Given the description of an element on the screen output the (x, y) to click on. 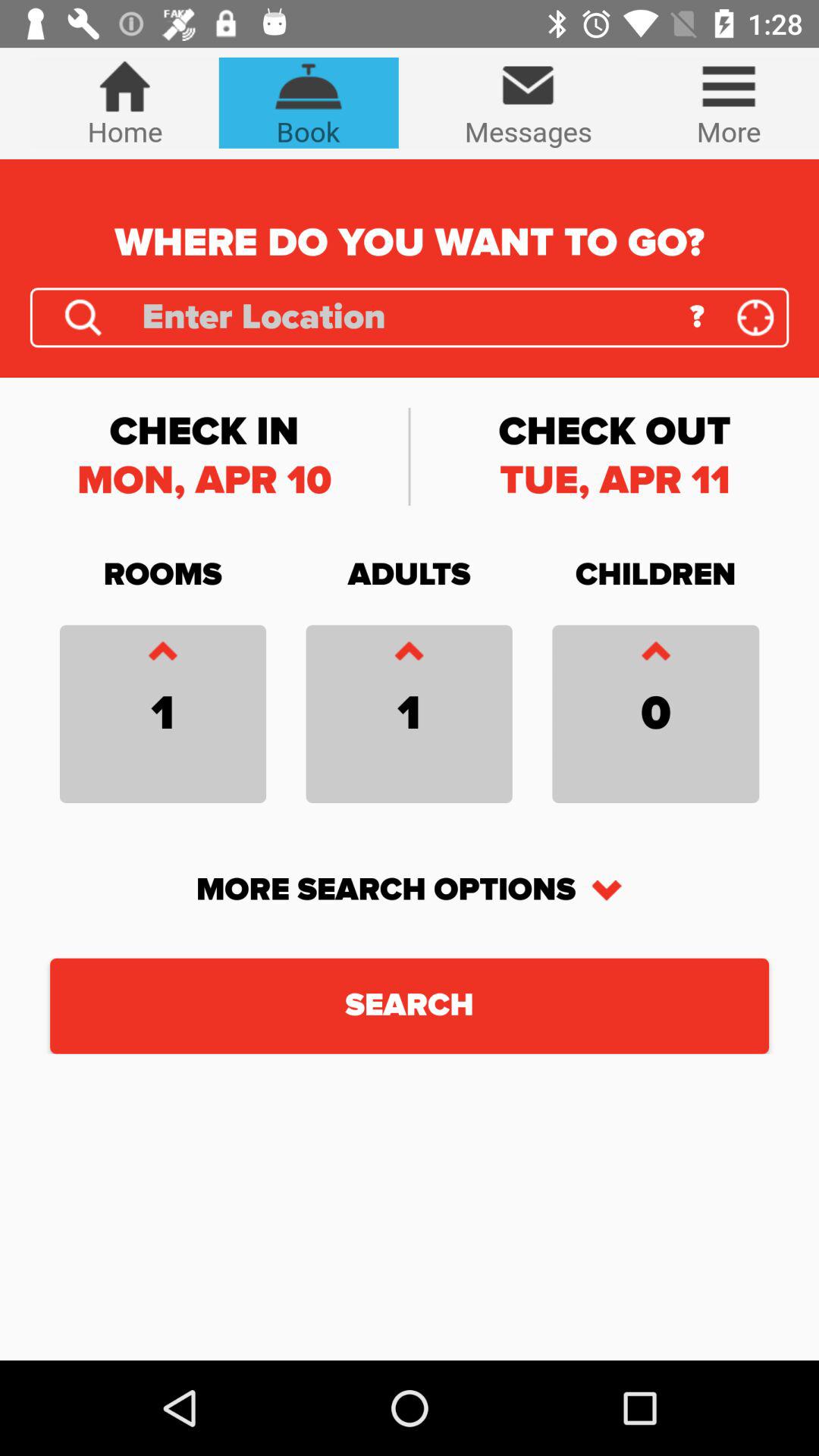
go up (655, 654)
